Given the description of an element on the screen output the (x, y) to click on. 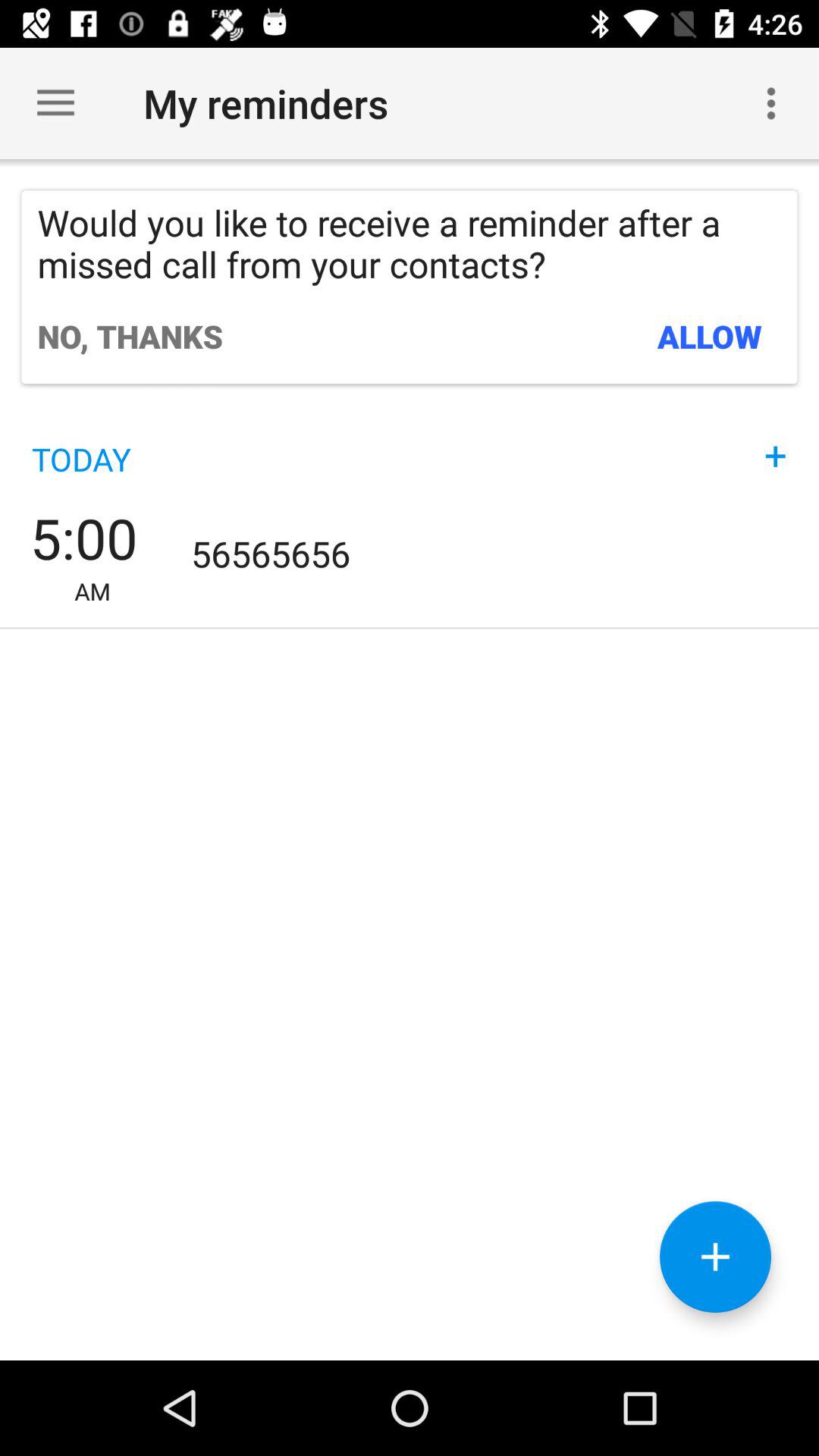
flip to the no, thanks icon (129, 335)
